Given the description of an element on the screen output the (x, y) to click on. 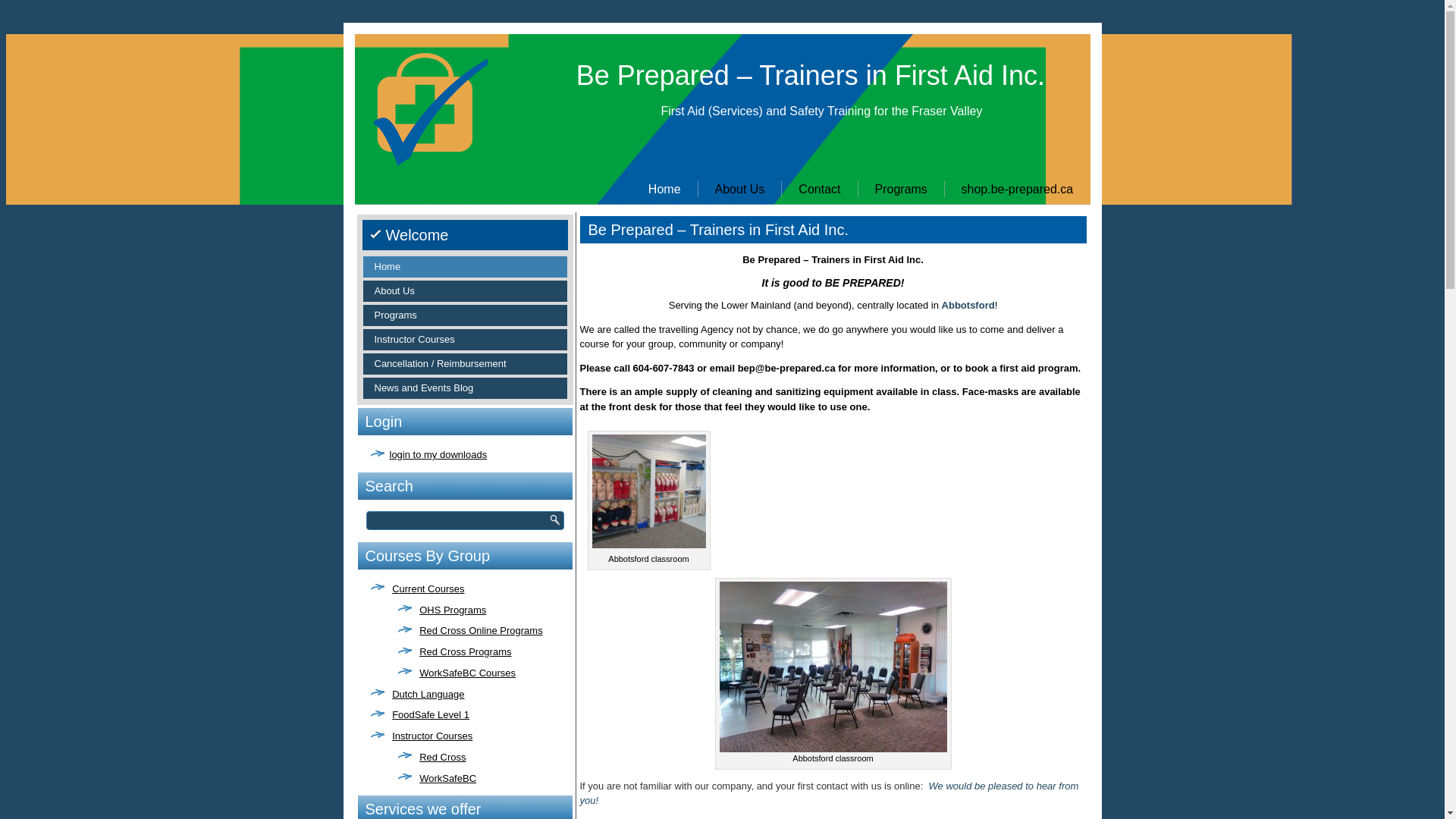
Abbotsford Element type: text (967, 304)
Home Element type: text (664, 189)
login to my downloads Element type: text (438, 454)
Programs Element type: text (900, 189)
Contact Element type: text (819, 189)
FoodSafe Level 1 Element type: text (430, 714)
Red Cross Programs Element type: text (465, 651)
News and Events Blog Element type: text (464, 387)
WorkSafeBC Courses Element type: text (467, 672)
Home Element type: text (464, 266)
OHS Programs Element type: text (452, 609)
WorkSafeBC Element type: text (447, 777)
Red Cross Element type: text (442, 756)
Dutch Language Element type: text (428, 693)
Programs Element type: text (464, 315)
Instructor Courses Element type: text (464, 339)
Cancellation / Reimbursement Element type: text (464, 363)
About Us Element type: text (740, 189)
About Us Element type: text (464, 290)
Instructor Courses Element type: text (432, 735)
Red Cross Online Programs Element type: text (480, 630)
Current Courses Element type: text (428, 588)
shop.be-prepared.ca Element type: text (1016, 189)
We would be pleased to hear from you! Element type: text (828, 793)
